Given the description of an element on the screen output the (x, y) to click on. 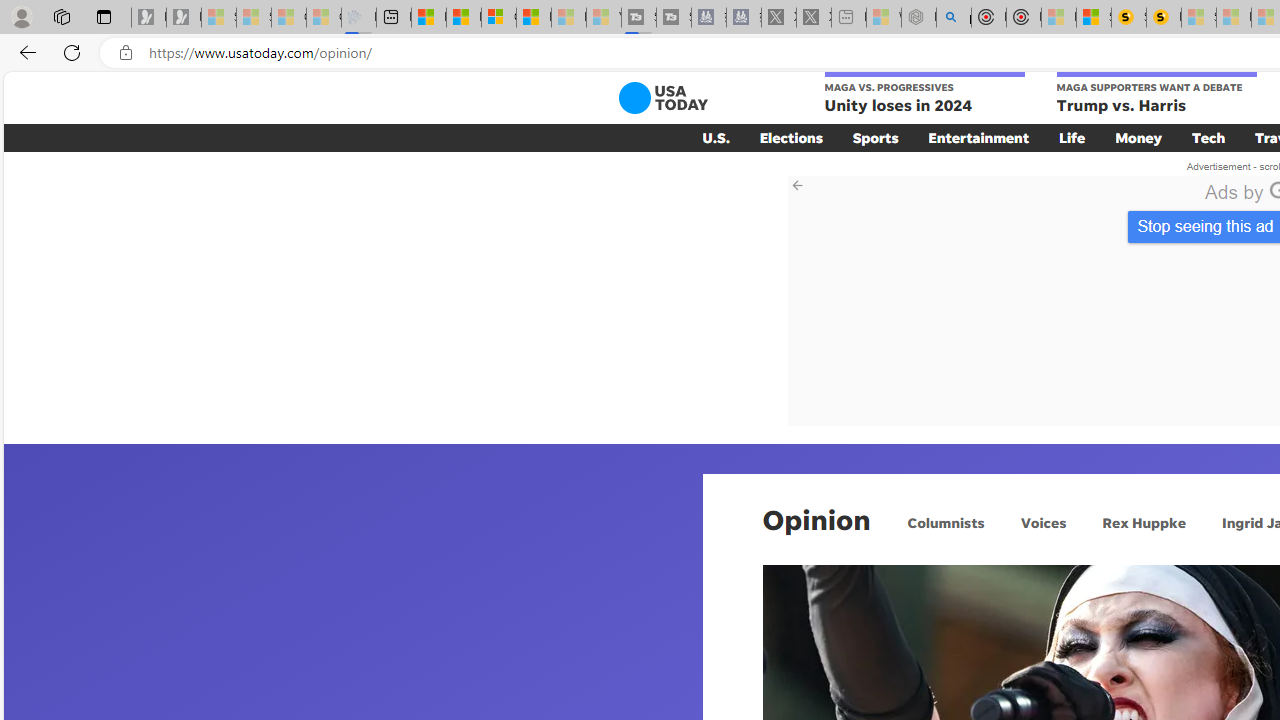
Overview (498, 17)
Nordace - Summer Adventures 2024 - Sleeping (918, 17)
MAGA VS. PROGRESSIVES Unity loses in 2024 (924, 94)
Newsletter Sign Up - Sleeping (183, 17)
U.S. (715, 137)
MAGA SUPPORTERS WANT A DEBATE Trump vs. Harris (1156, 94)
